Given the description of an element on the screen output the (x, y) to click on. 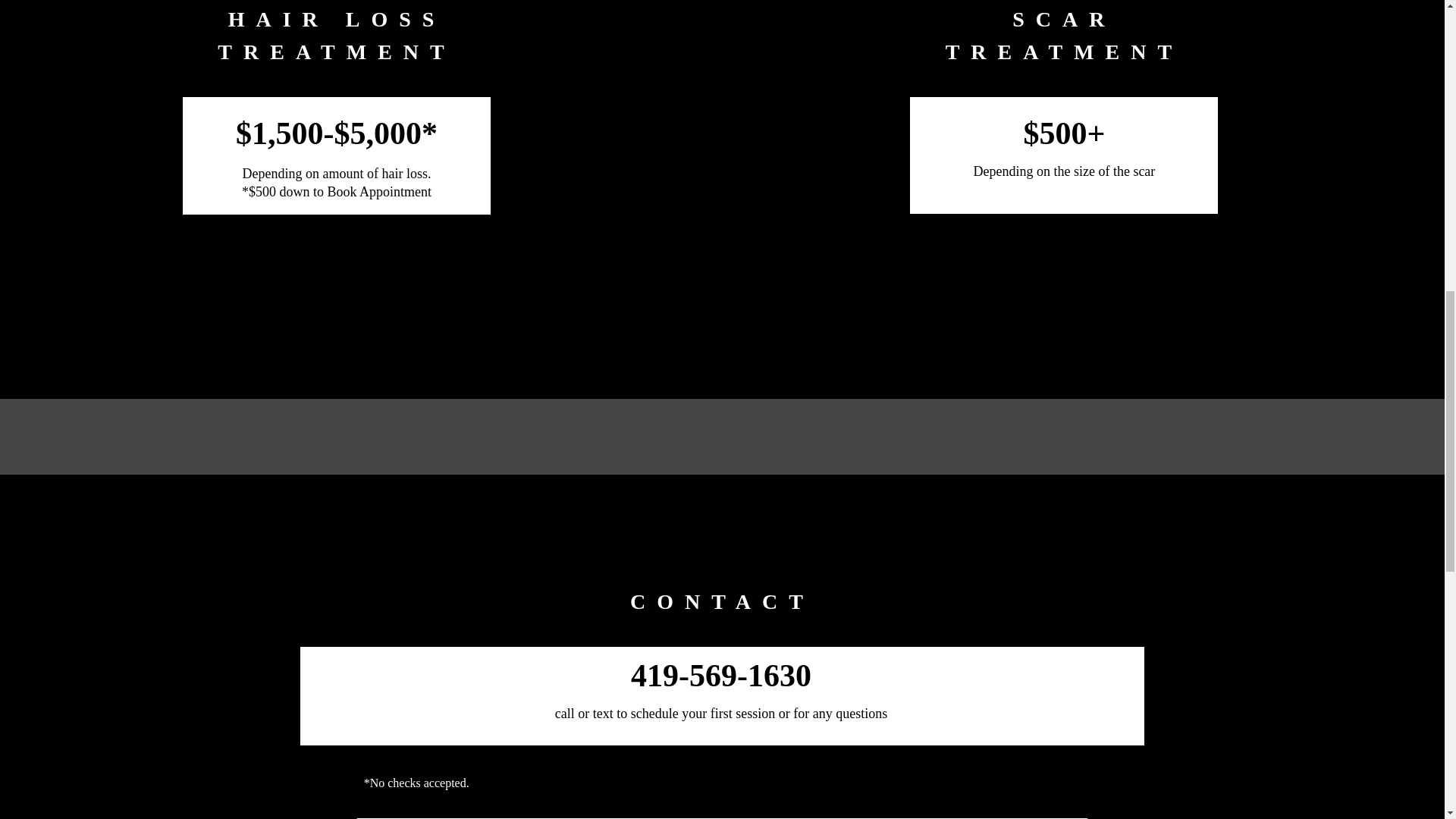
star (722, 531)
419-569-1630 (720, 675)
